Given the description of an element on the screen output the (x, y) to click on. 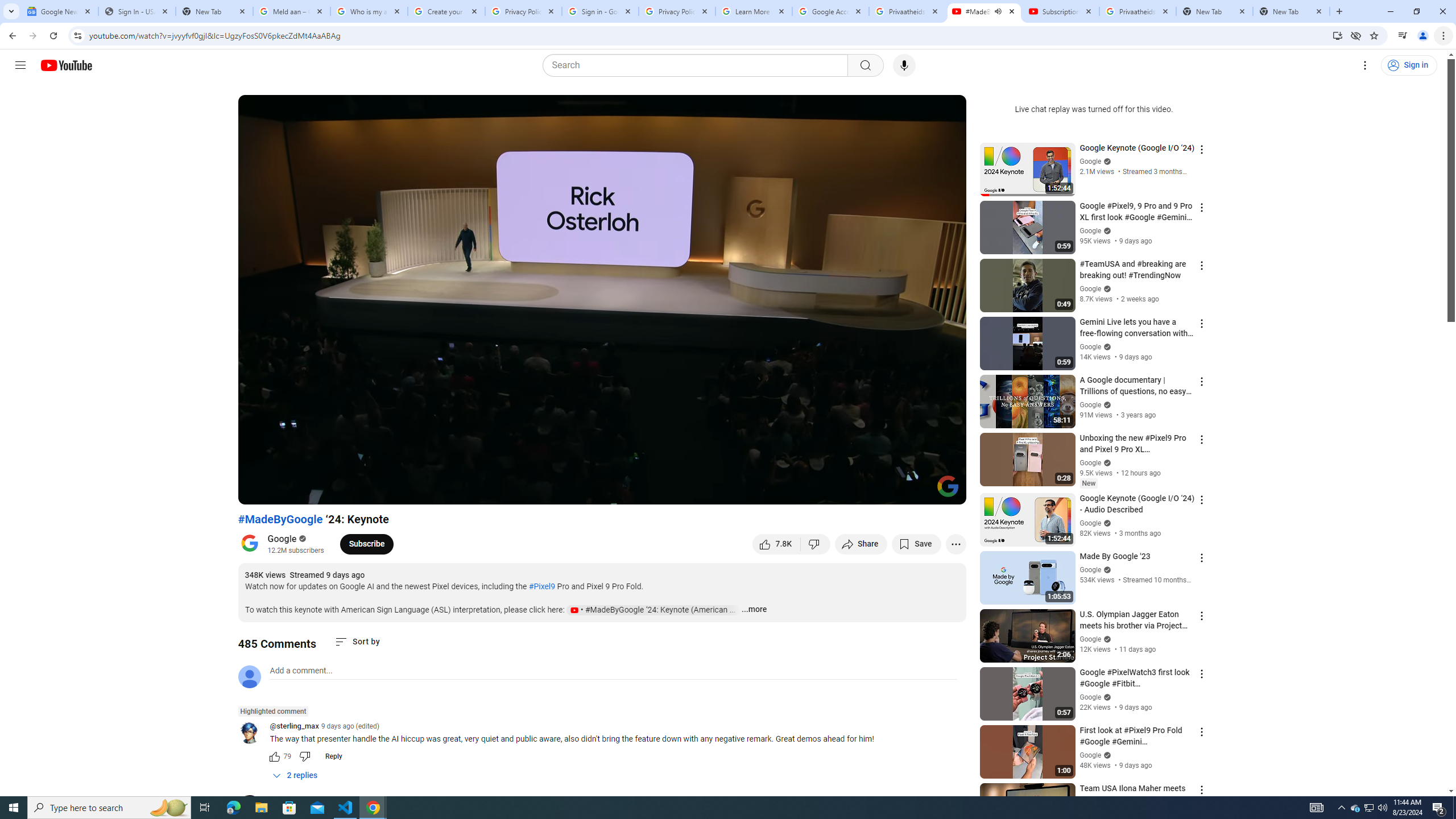
Google Account (830, 11)
Sign in - Google Accounts (599, 11)
9 days ago (edited) (350, 726)
Sort comments (357, 641)
2 replies (295, 775)
AutomationID: simplebox-placeholder (301, 670)
Play (k) (257, 490)
Dislike this comment (304, 755)
Like this comment along with 79 other people (273, 755)
YouTube Home (66, 65)
Dislike this video (815, 543)
#Pixel9 (541, 586)
